Given the description of an element on the screen output the (x, y) to click on. 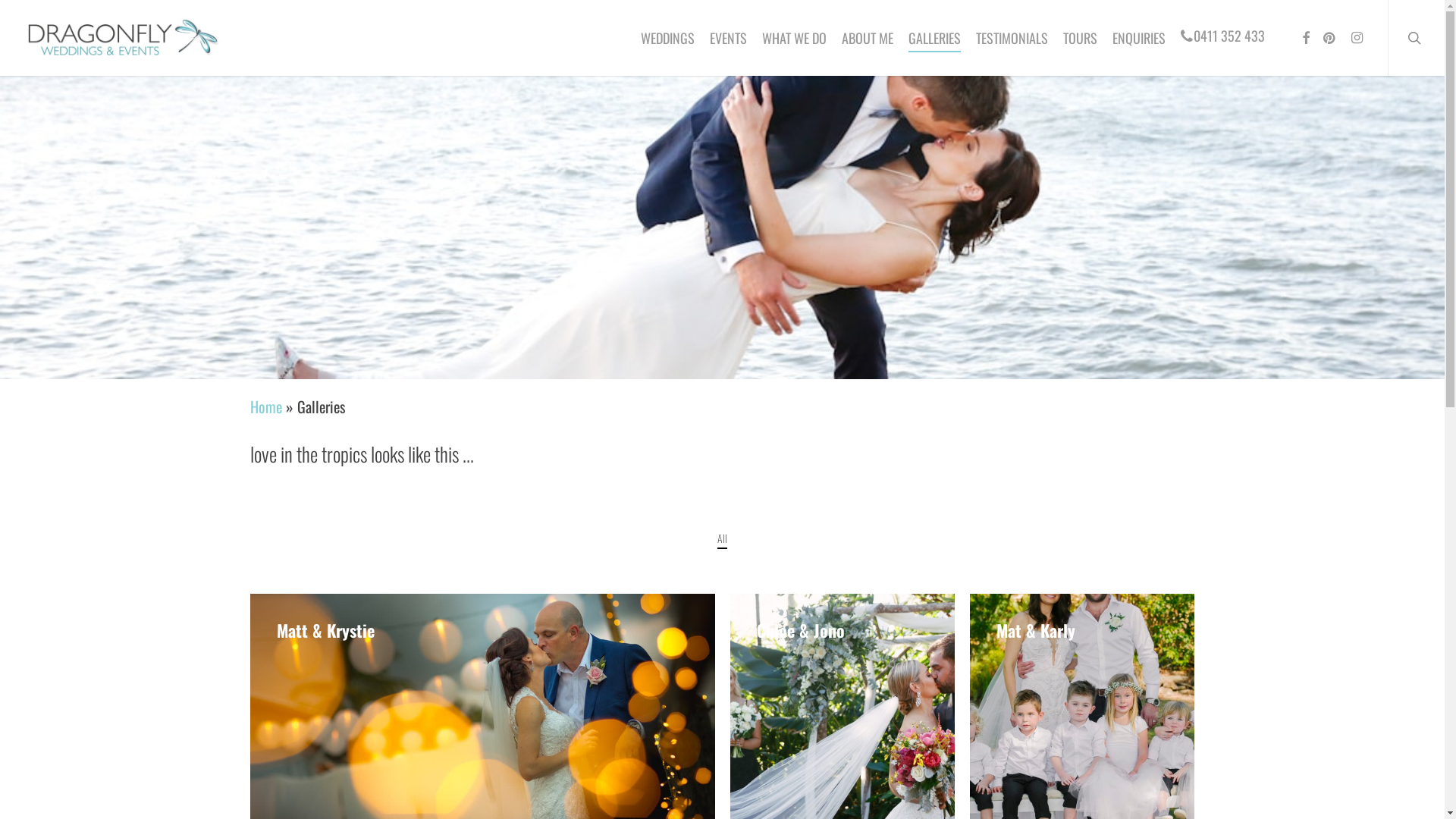
TOURS Element type: text (1080, 37)
TESTIMONIALS Element type: text (1011, 37)
GALLERIES Element type: text (934, 37)
PINTEREST Element type: text (1329, 37)
phone Element type: text (775, 709)
search Element type: text (1415, 37)
INSTAGRAM Element type: text (1357, 37)
WEDDINGS Element type: text (667, 37)
facebook Element type: text (616, 709)
pinterest Element type: text (669, 709)
Matt & Krystie Element type: text (325, 630)
FACEBOOK Element type: text (1305, 37)
ENQUIRIES Element type: text (1138, 37)
WHAT WE DO Element type: text (794, 37)
0411 352 433 Element type: text (1222, 37)
GET IN TOUCH Element type: text (1074, 615)
Home Element type: text (266, 406)
Chloe & Jono Element type: text (800, 630)
EVENTS Element type: text (727, 37)
Mat & Karly Element type: text (1035, 630)
All Element type: text (722, 538)
instagram Element type: text (722, 709)
email Element type: text (828, 709)
ABOUT ME Element type: text (867, 37)
